Given the description of an element on the screen output the (x, y) to click on. 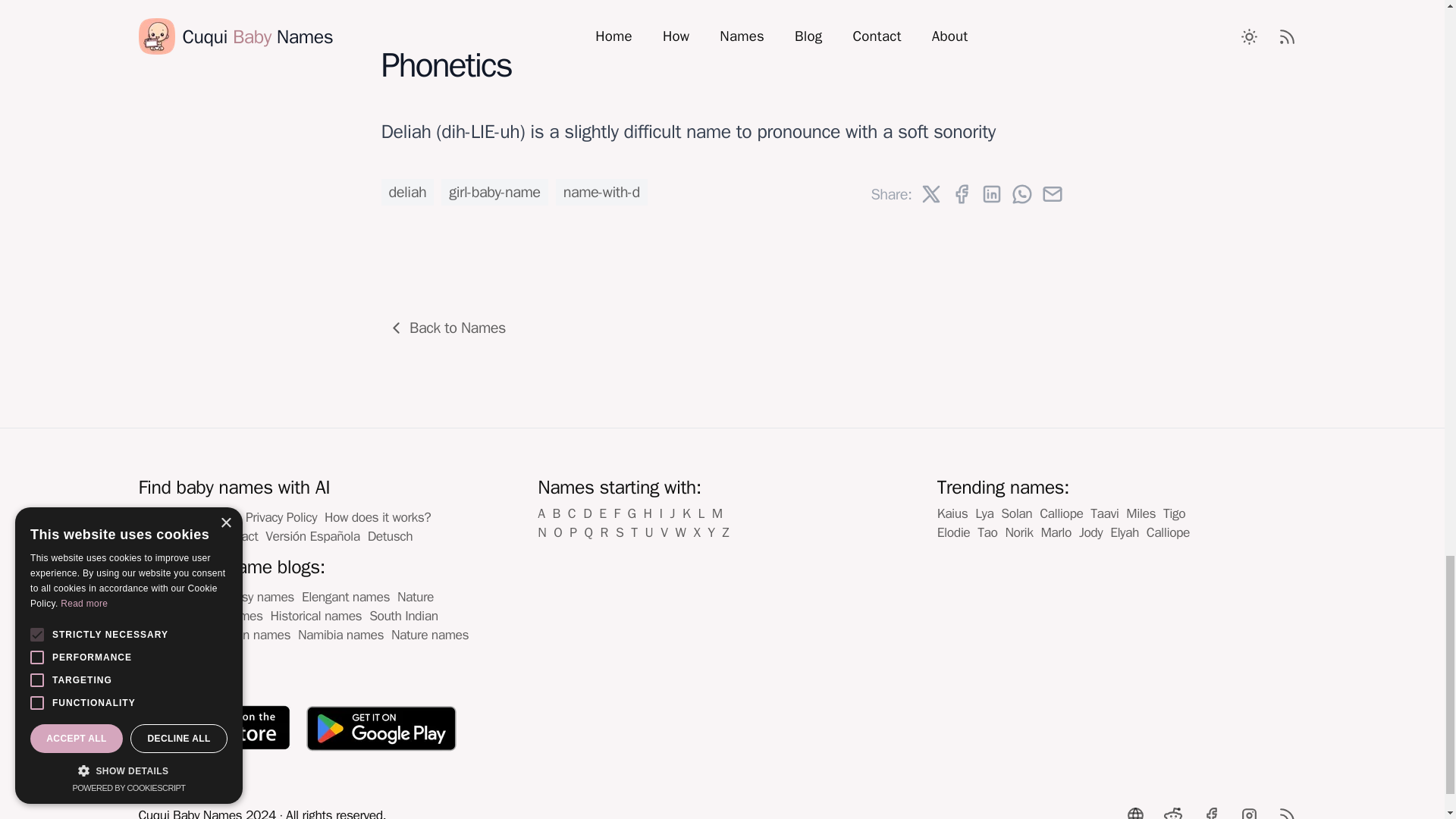
Twitter Share (930, 193)
Whatsapp Share (1021, 193)
Back to Names (448, 327)
My Names (167, 516)
Interesting name blogs: (231, 566)
Privacy Policy (281, 516)
name-with-d (601, 191)
How does it works? (377, 516)
Find baby names with AI (234, 487)
Detusch (390, 535)
